Given the description of an element on the screen output the (x, y) to click on. 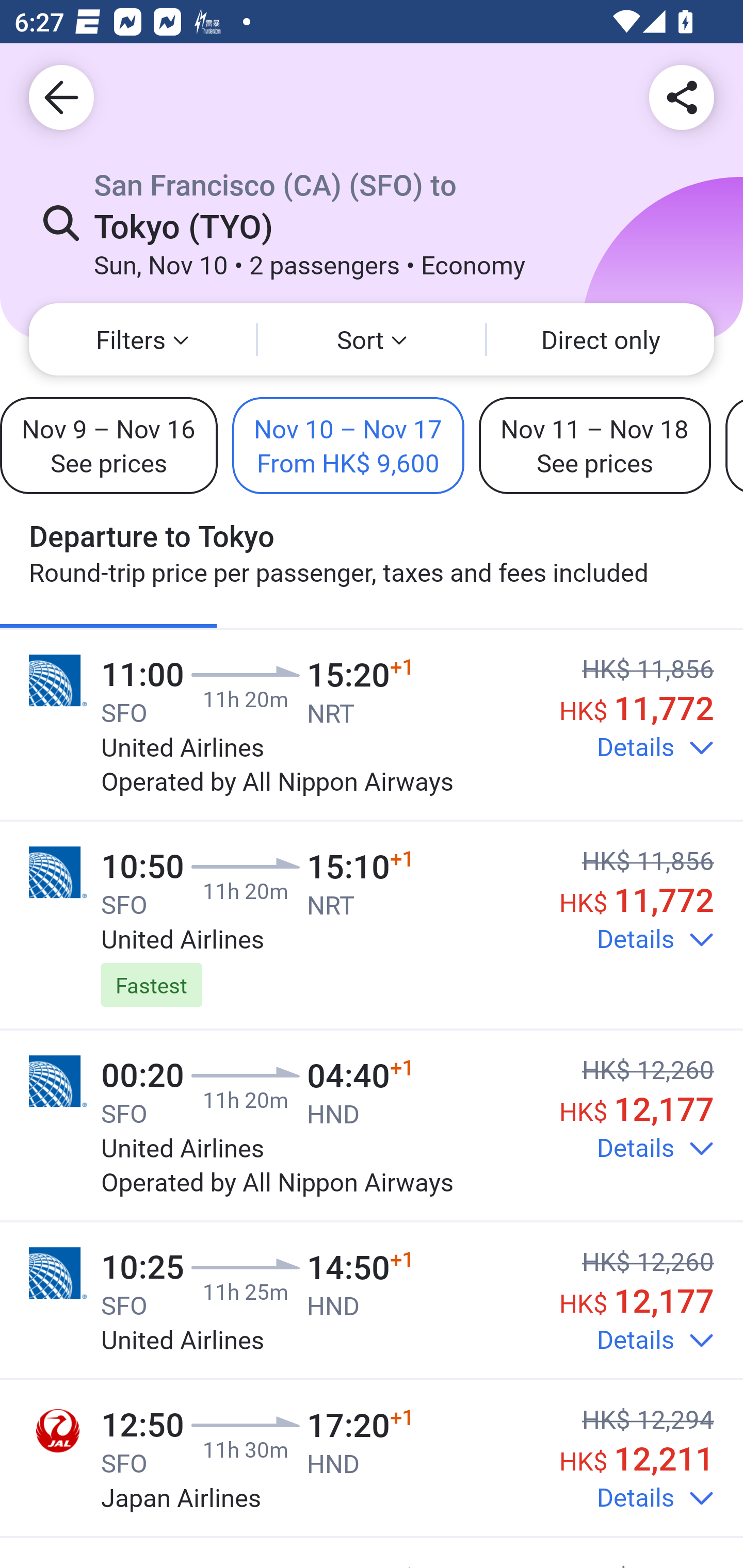
Filters (141, 339)
Sort (371, 339)
Direct only (600, 339)
Nov 9 – Nov 16 See prices (108, 444)
Nov 10 – Nov 17 From HK$ 9,600 (347, 444)
Nov 11 – Nov 18 See prices (594, 444)
